Given the description of an element on the screen output the (x, y) to click on. 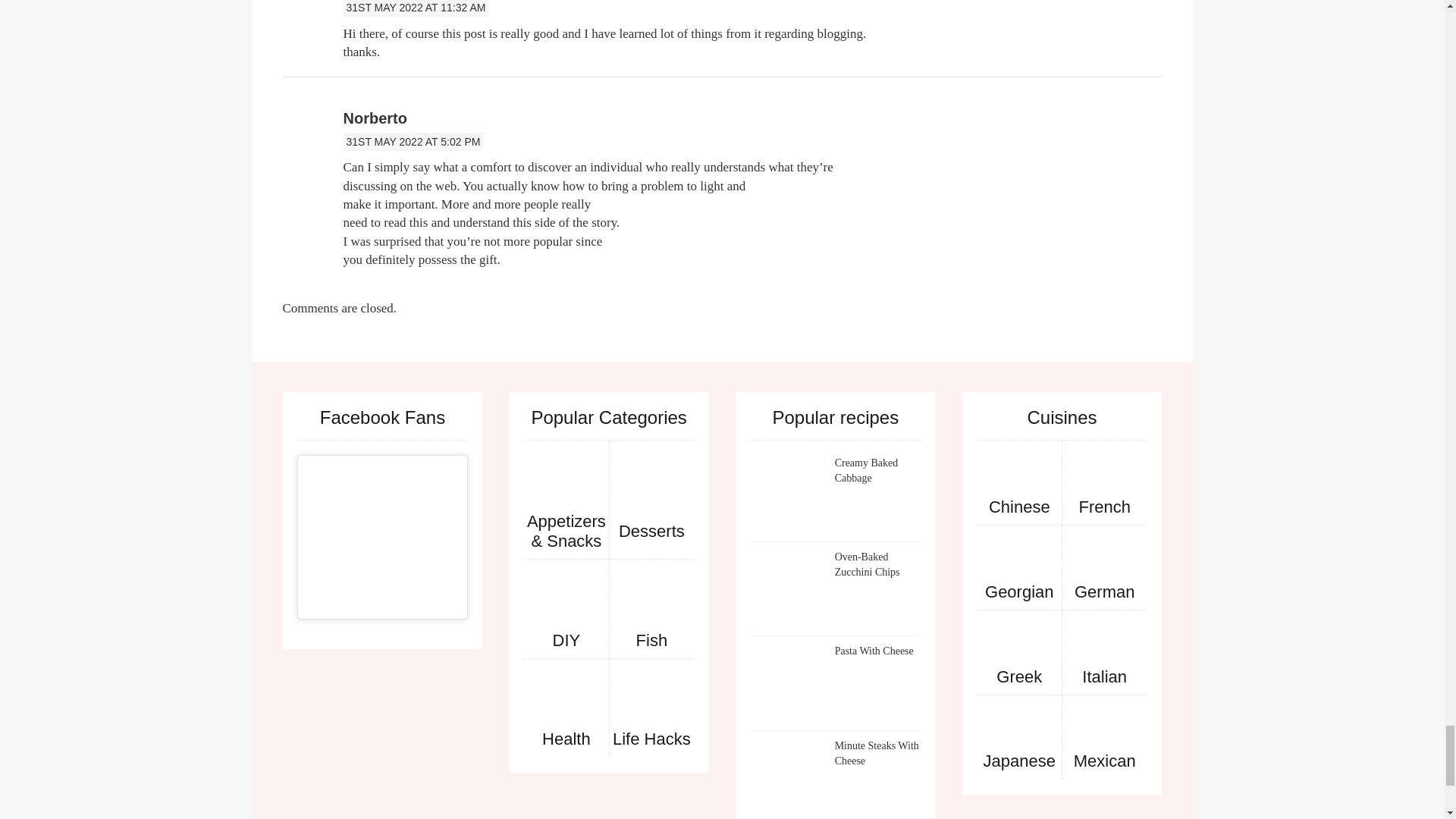
Creamy Baked Cabbage (789, 493)
Minute Steaks With Cheese (789, 776)
Oven-Baked Zucchini Chips (789, 587)
Pasta With Cheese (789, 681)
